Given the description of an element on the screen output the (x, y) to click on. 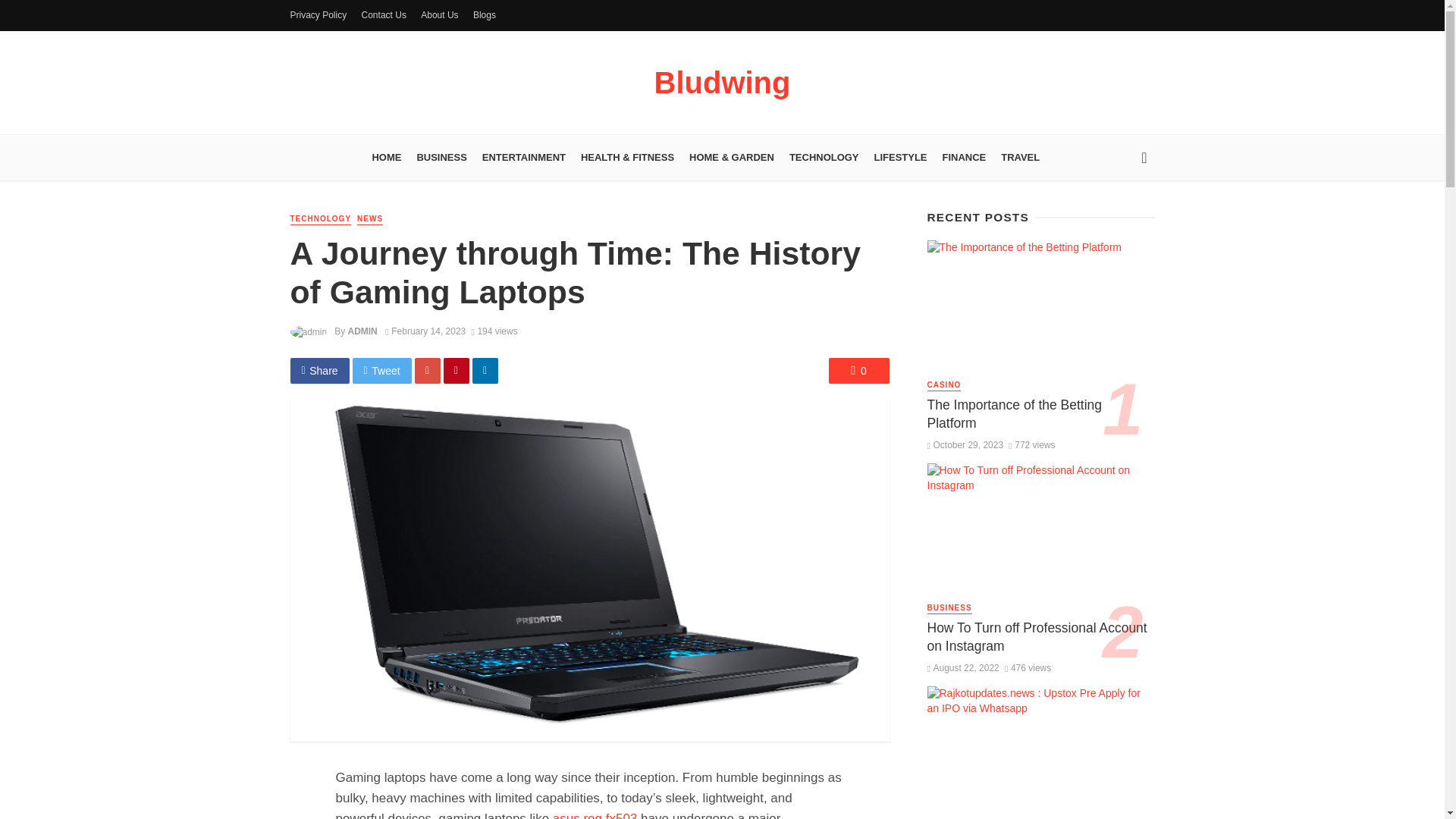
asus rog fx503 (595, 815)
Share (319, 370)
Tweet (382, 370)
Posts by admin (362, 330)
Share on Twitter (382, 370)
Bludwing (721, 89)
About Us (439, 14)
Blogs (484, 14)
TRAVEL (1019, 157)
Share on Facebook (319, 370)
